Given the description of an element on the screen output the (x, y) to click on. 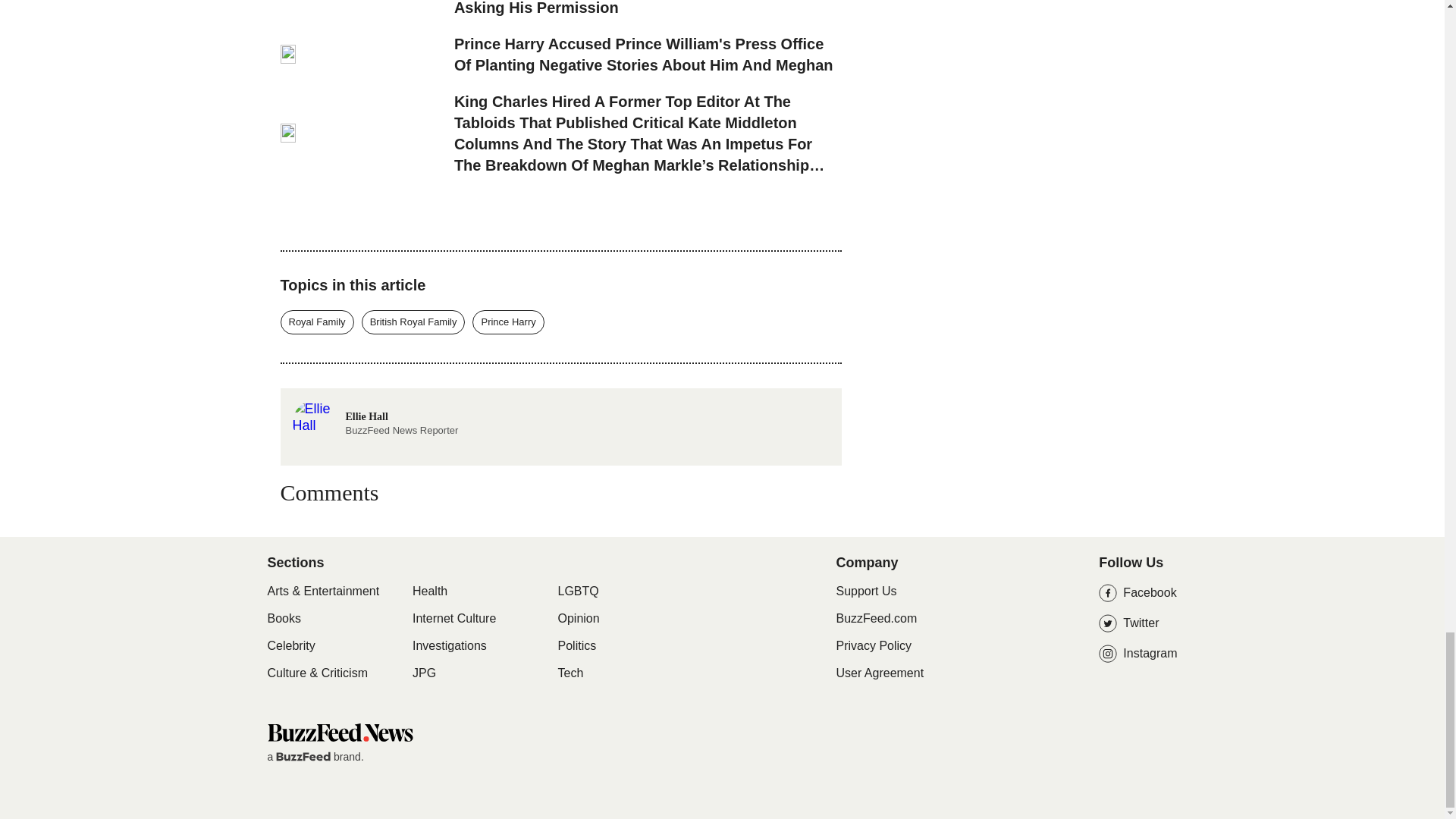
BuzzFeed News Home (375, 408)
Royal Family (339, 732)
BuzzFeed (317, 322)
Celebrity (303, 756)
Prince Harry (290, 645)
British Royal Family (507, 322)
Books (413, 322)
